Given the description of an element on the screen output the (x, y) to click on. 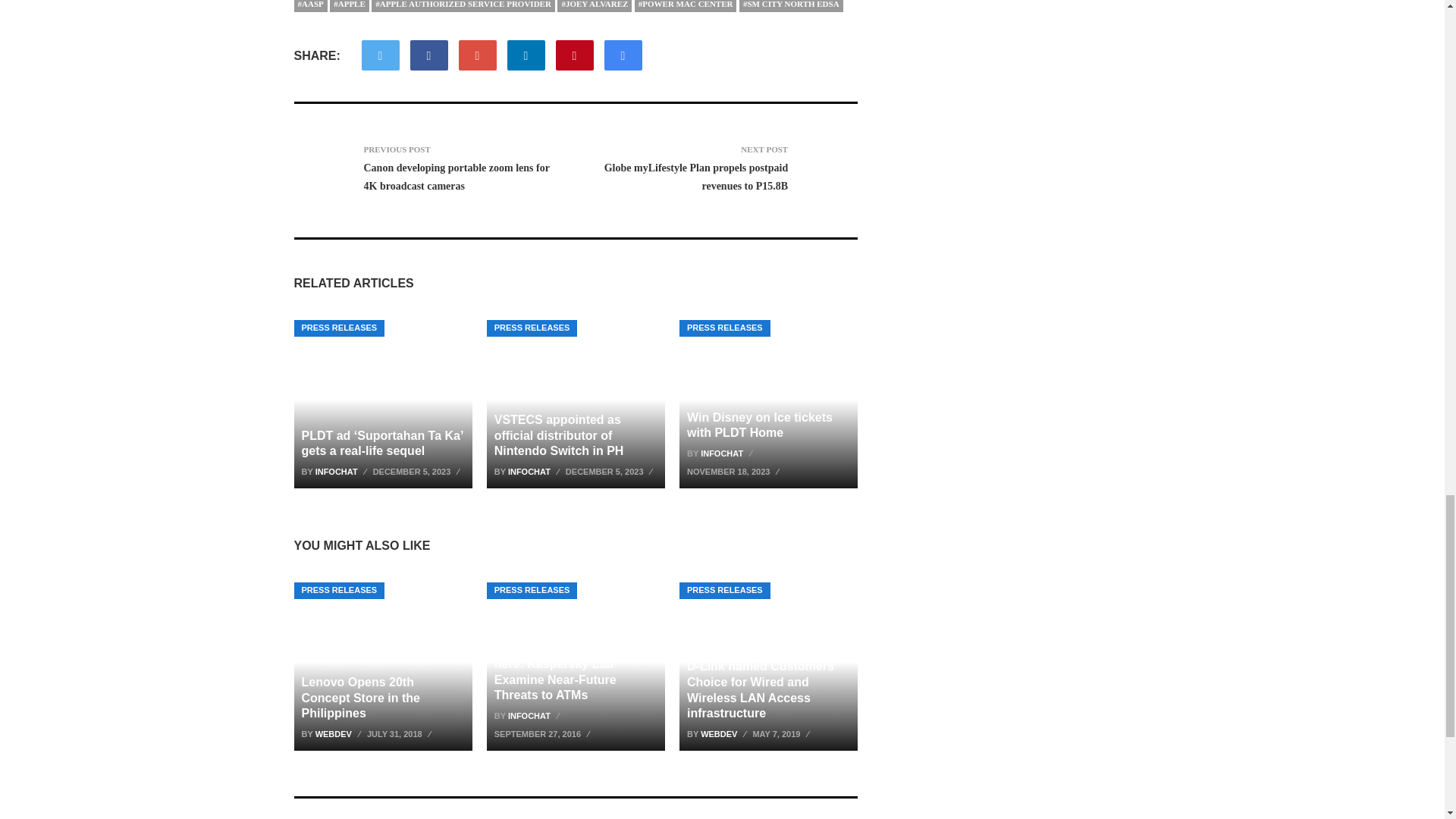
Tuesday, December 5, 2023, 4:47 pm (418, 471)
Tuesday, December 5, 2023, 3:27 pm (611, 471)
Saturday, November 18, 2023, 12:48 pm (735, 471)
Tuesday, May 7, 2019, 3:26 pm (782, 733)
Tuesday, July 31, 2018, 1:29 pm (400, 733)
Tuesday, September 27, 2016, 9:36 am (544, 733)
